Given the description of an element on the screen output the (x, y) to click on. 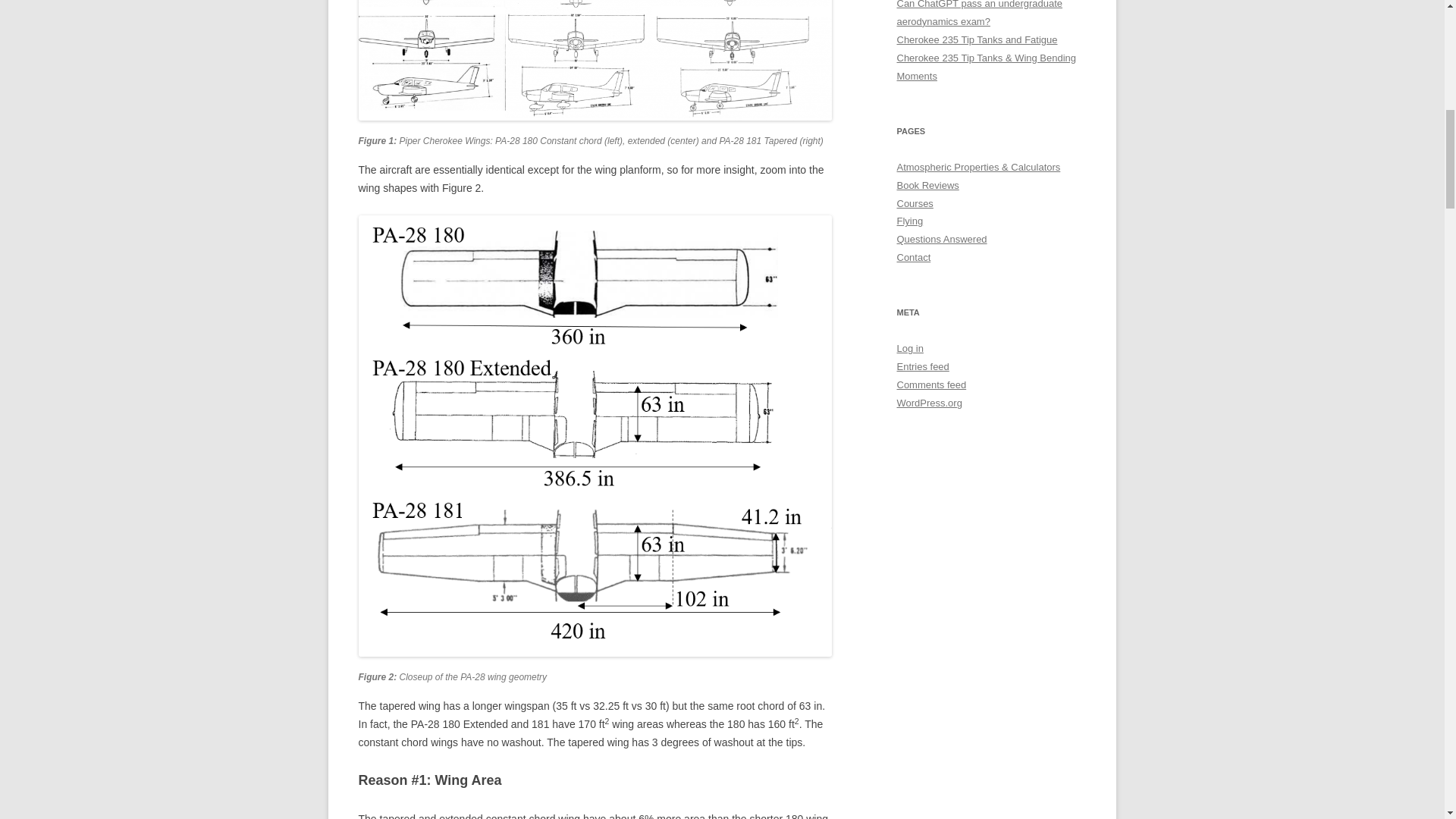
Cherokee 235 Tip Tanks and Fatigue (976, 39)
Courses (914, 202)
Book Reviews (927, 184)
Can ChatGPT pass an undergraduate aerodynamics exam? (978, 13)
